Given the description of an element on the screen output the (x, y) to click on. 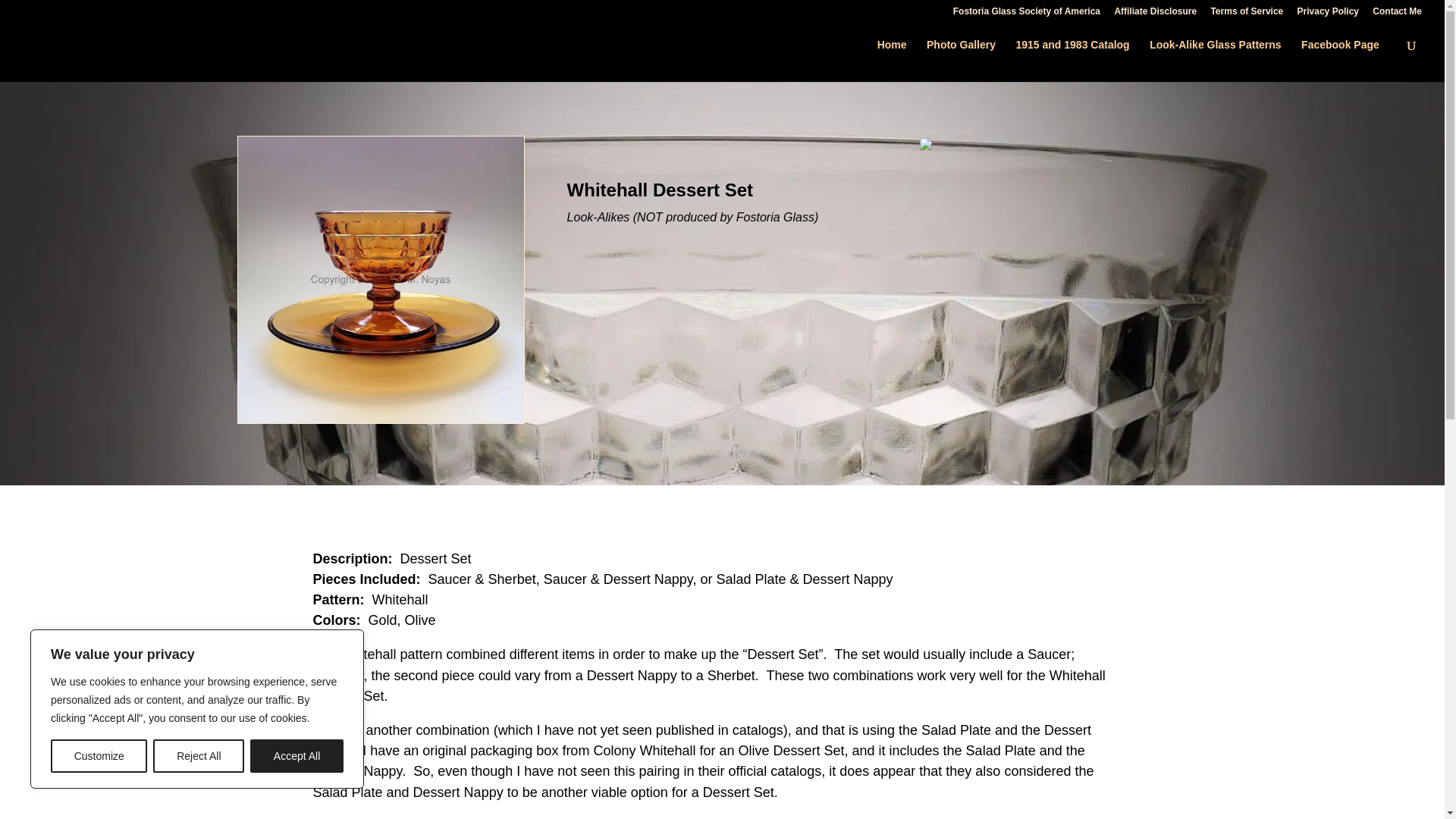
Terms of Service (1245, 14)
Contact Me (1397, 14)
Reject All (198, 756)
Fostoria Glass Society of America (1026, 14)
Affiliate Disclosure (1154, 14)
Customize (98, 756)
Privacy Policy (1327, 14)
Facebook Page (1339, 52)
Photo Gallery (960, 52)
Home (892, 52)
